Given the description of an element on the screen output the (x, y) to click on. 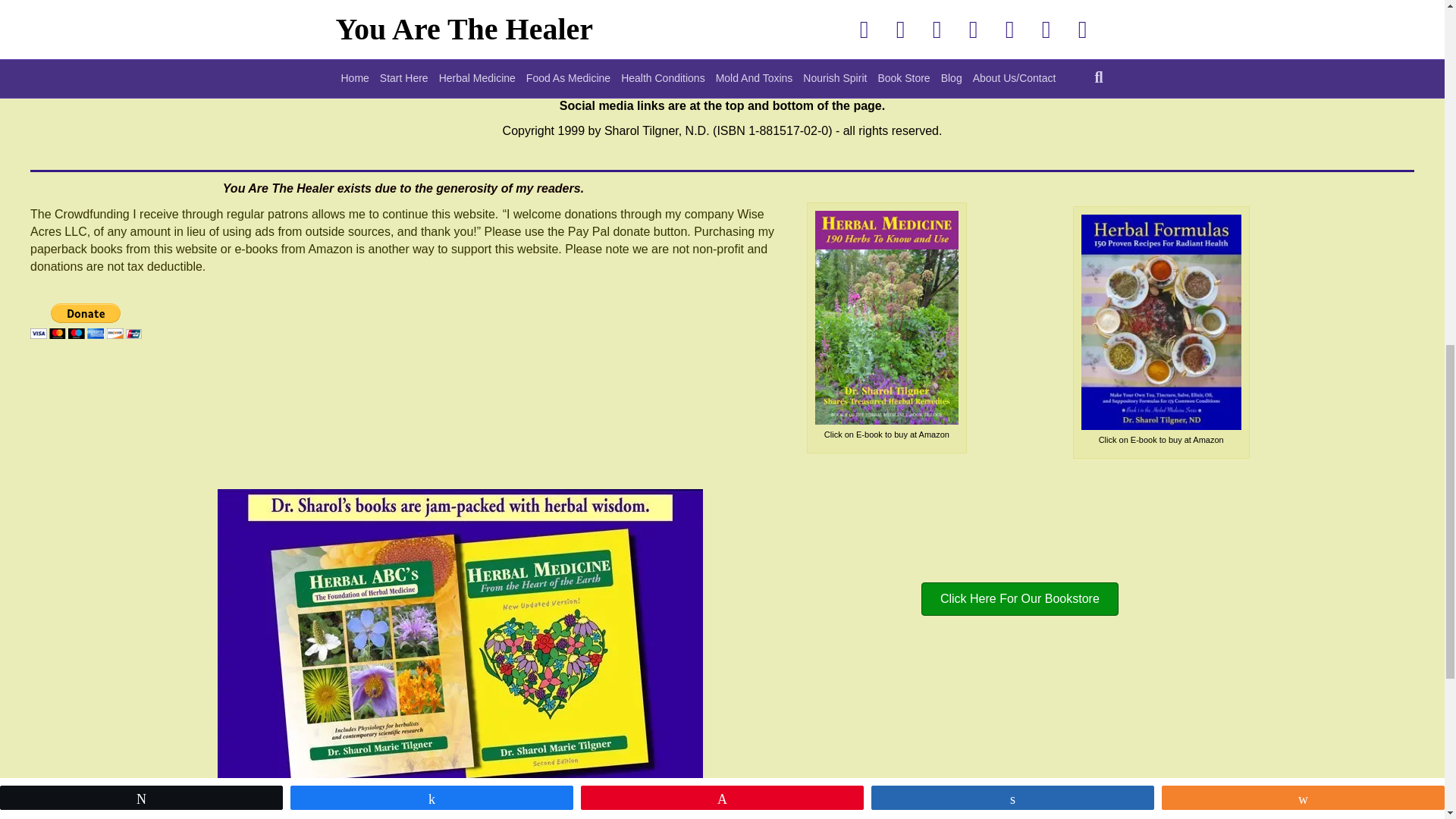
PayPal - The safer, easier way to pay online! (85, 321)
